Given the description of an element on the screen output the (x, y) to click on. 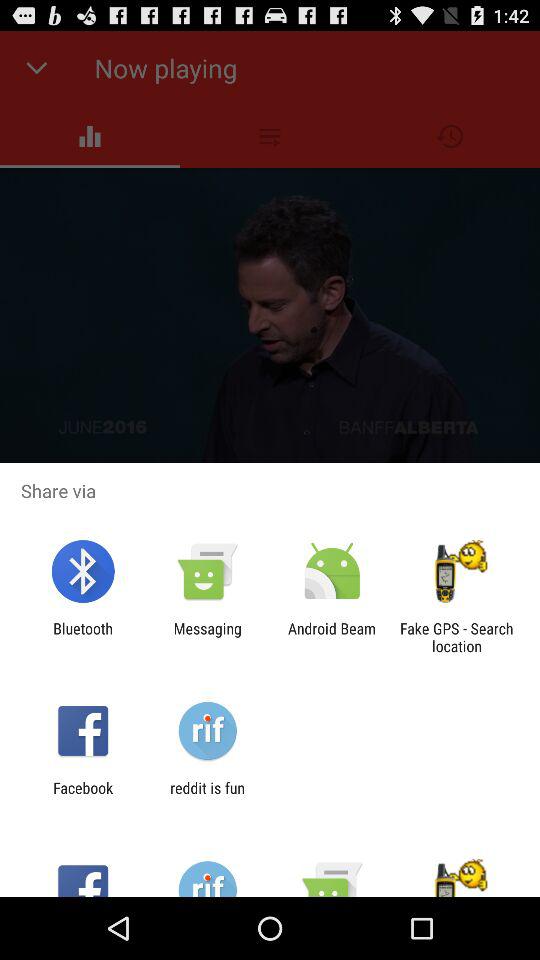
launch the item next to the messaging item (332, 637)
